Given the description of an element on the screen output the (x, y) to click on. 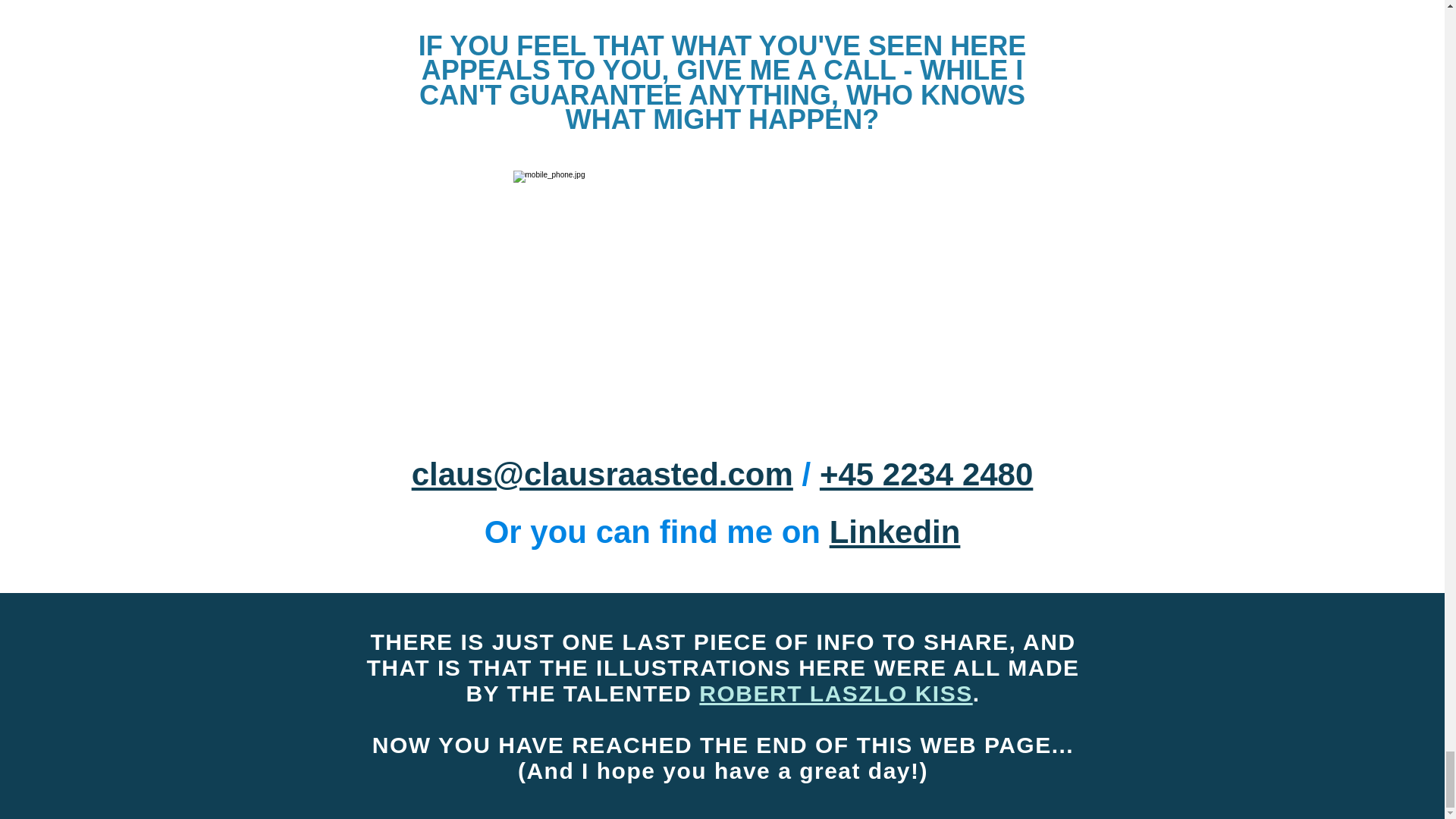
ROBERT LASZLO KISS (835, 692)
Linkedin (894, 531)
